Given the description of an element on the screen output the (x, y) to click on. 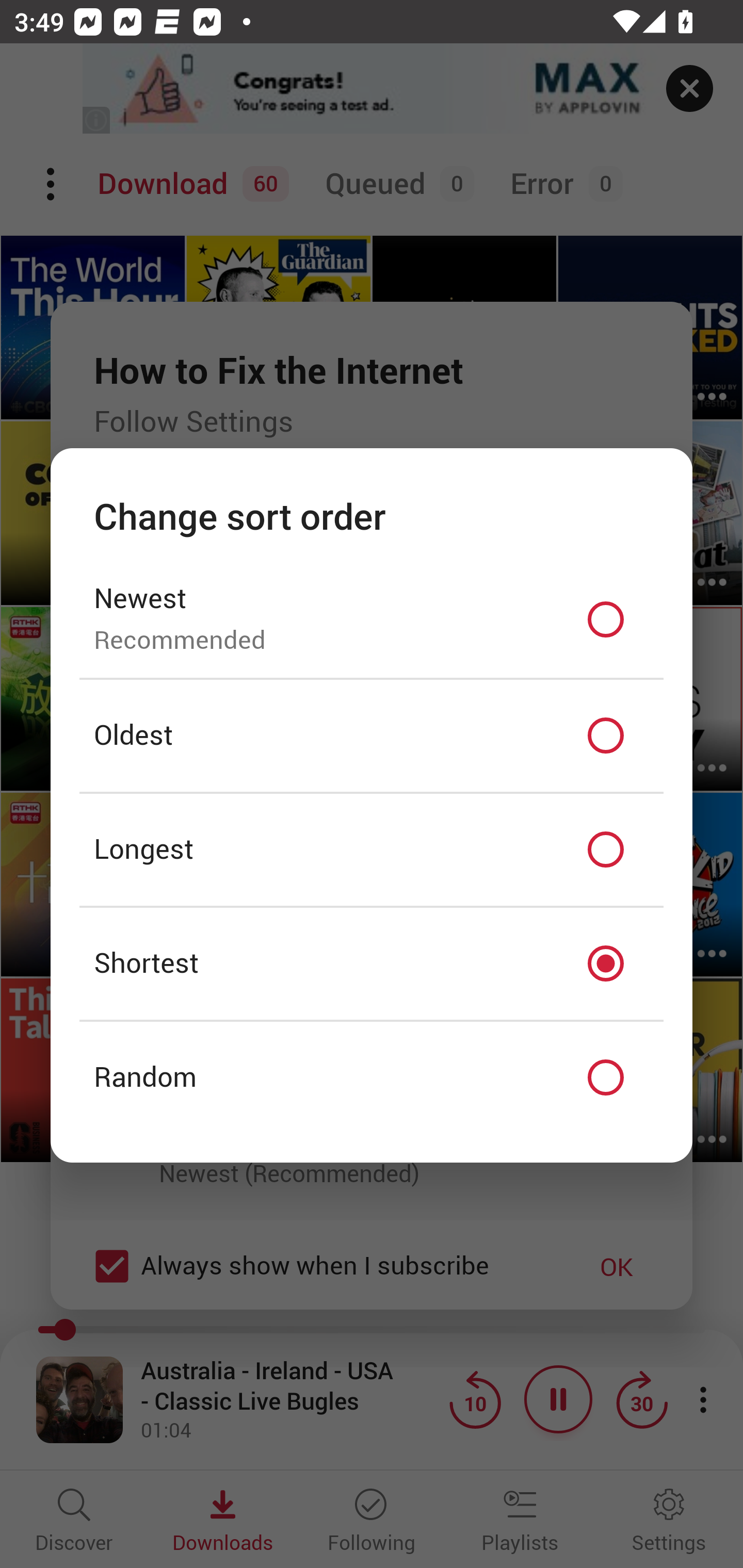
Newest Recommended (371, 619)
Oldest (371, 735)
Longest (371, 849)
Shortest (371, 963)
Random (371, 1077)
